Given the description of an element on the screen output the (x, y) to click on. 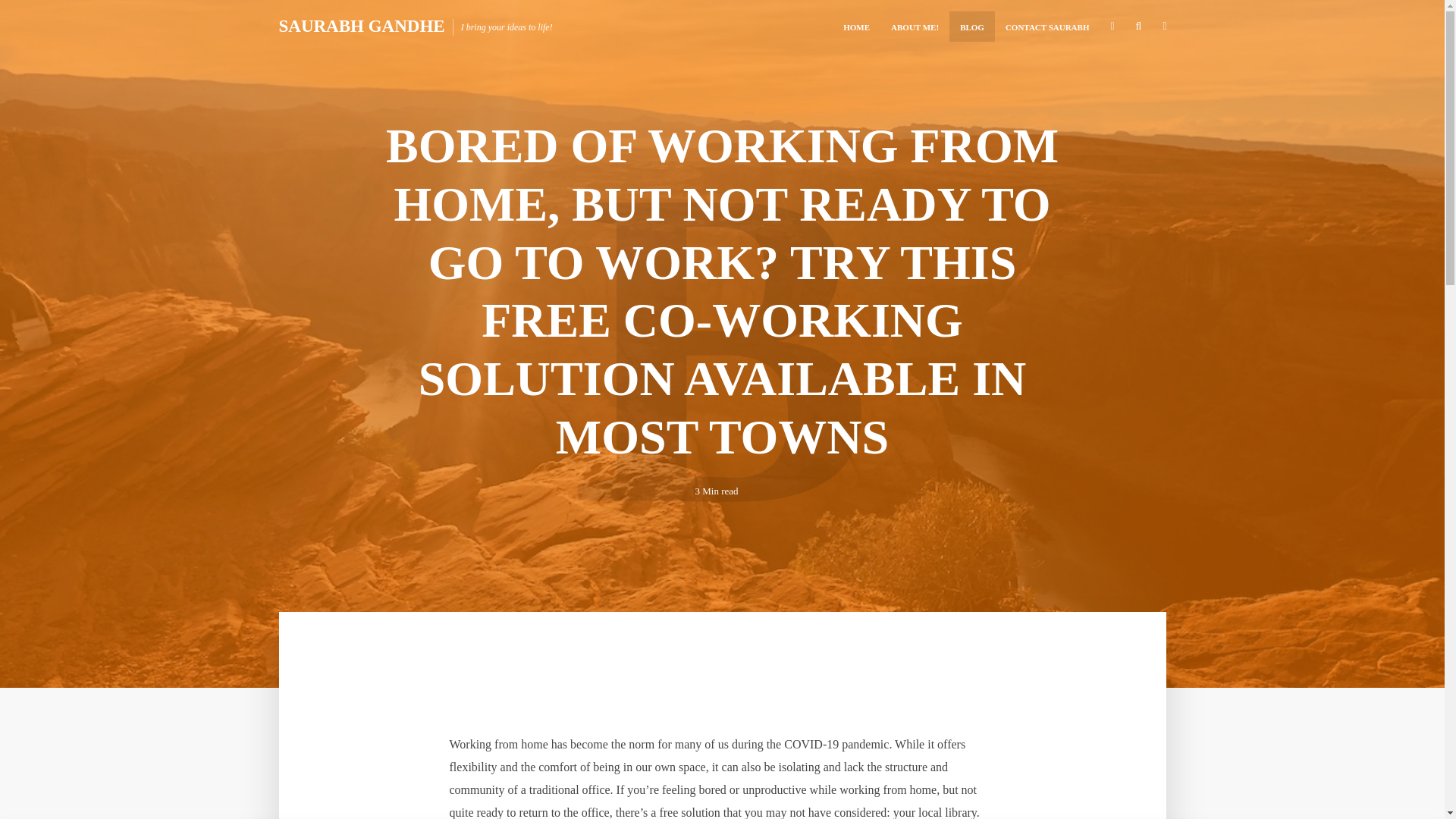
SAURABH GANDHE (362, 26)
CONTACT SAURABH (1047, 26)
ABOUT ME! (914, 26)
BLOG (971, 26)
HOME (856, 26)
